Given the description of an element on the screen output the (x, y) to click on. 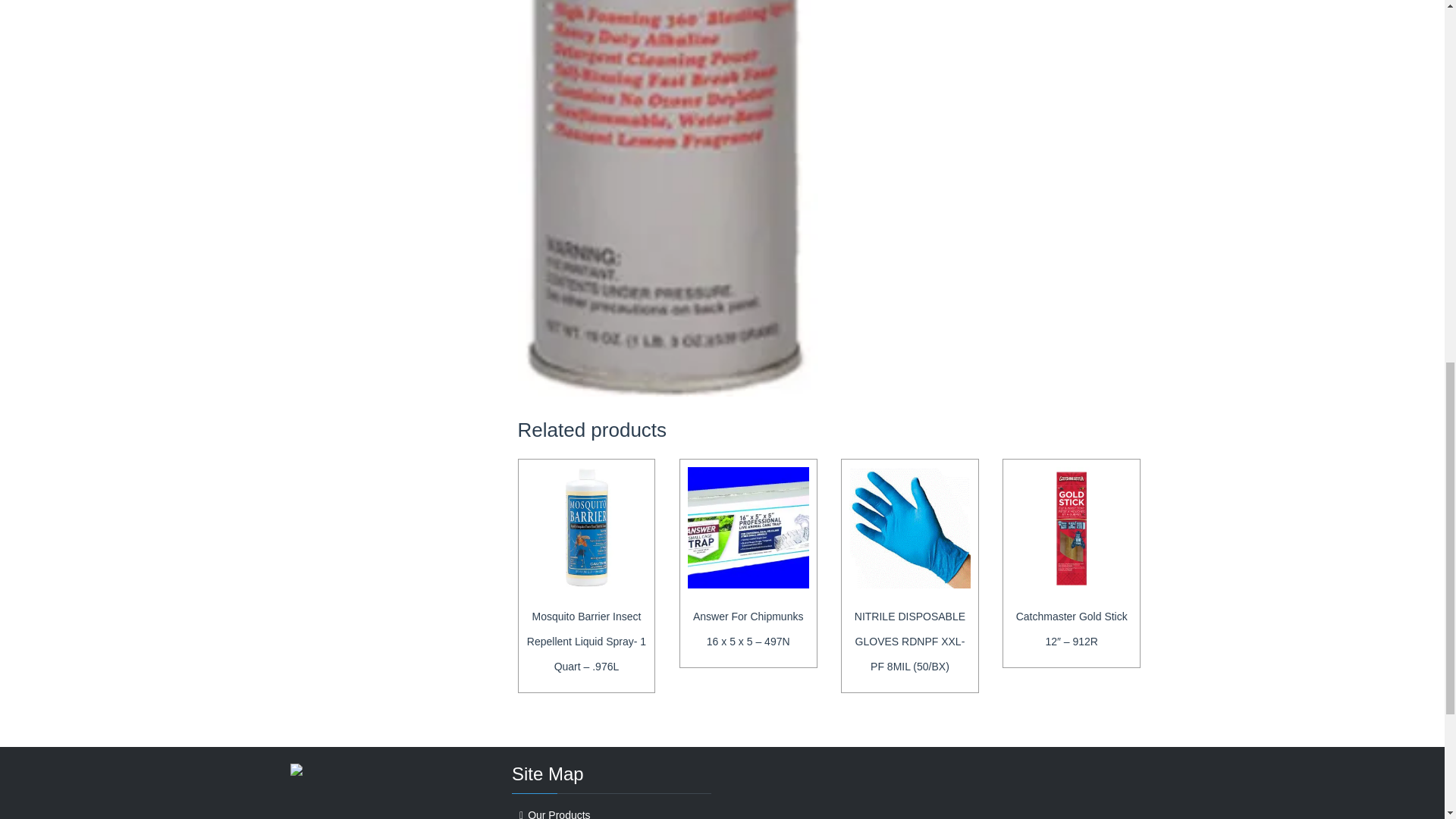
Our Products (558, 814)
